Given the description of an element on the screen output the (x, y) to click on. 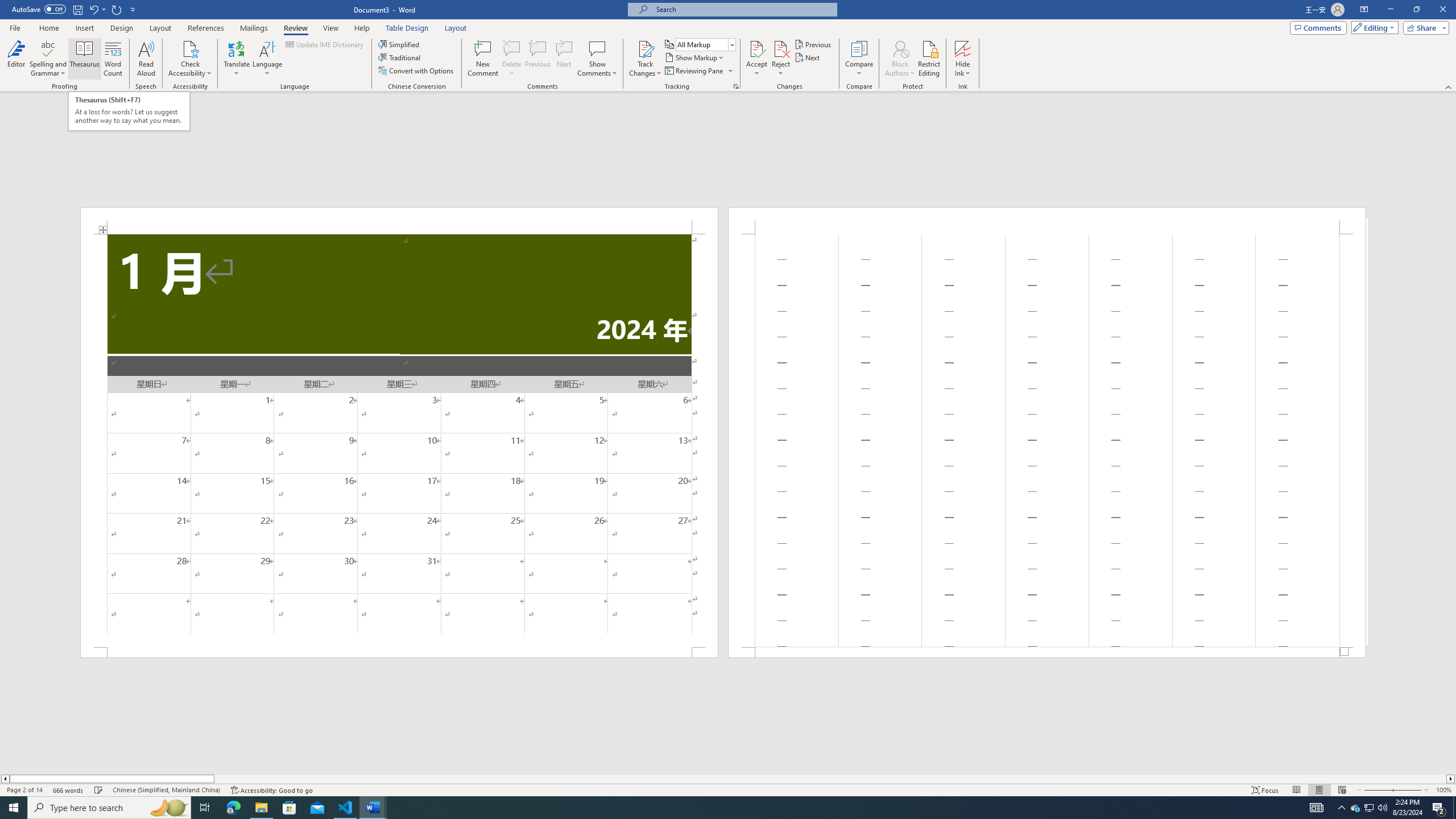
Page 1 content (398, 440)
Traditional (400, 56)
Reviewing Pane (698, 69)
Track Changes (644, 48)
Spelling and Grammar (48, 48)
Change Tracking Options... (735, 85)
Show Comments (597, 48)
Track Changes (644, 58)
